Given the description of an element on the screen output the (x, y) to click on. 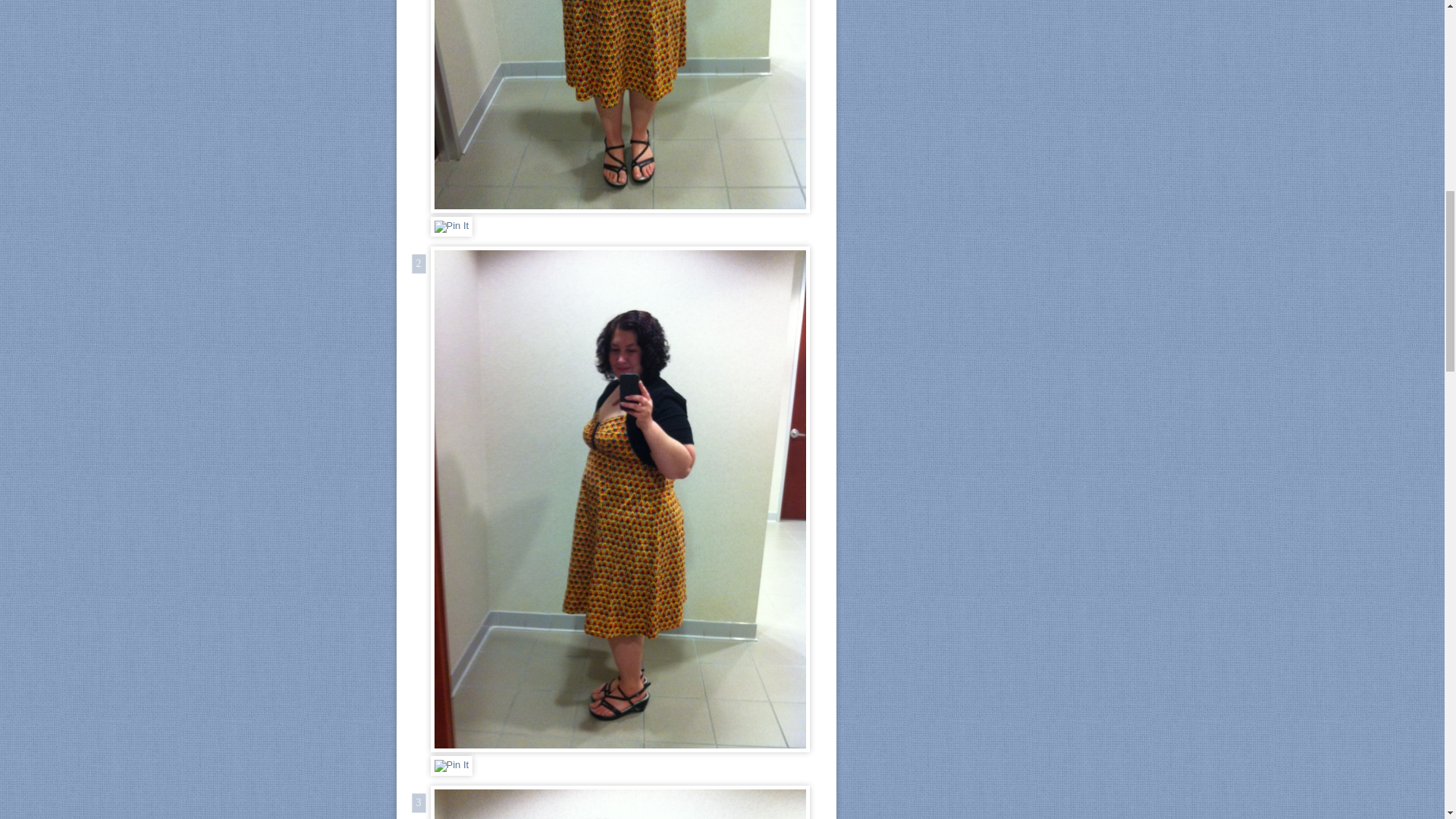
Pin It (451, 765)
Pin It (451, 226)
